Given the description of an element on the screen output the (x, y) to click on. 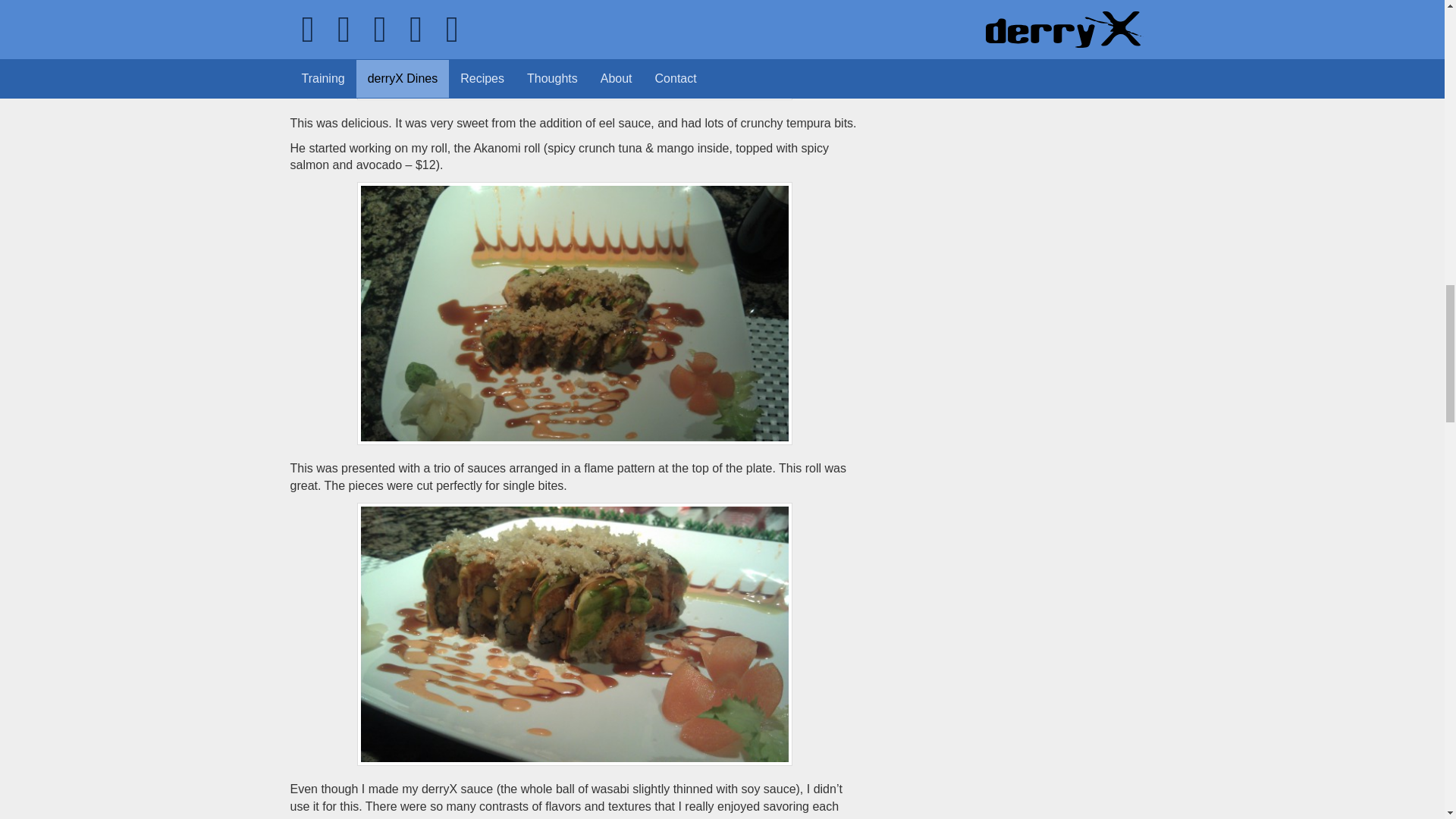
Akanomi roll (574, 313)
closeup of Akanomi roll (574, 633)
Kani salad at Akanomi (574, 49)
